Given the description of an element on the screen output the (x, y) to click on. 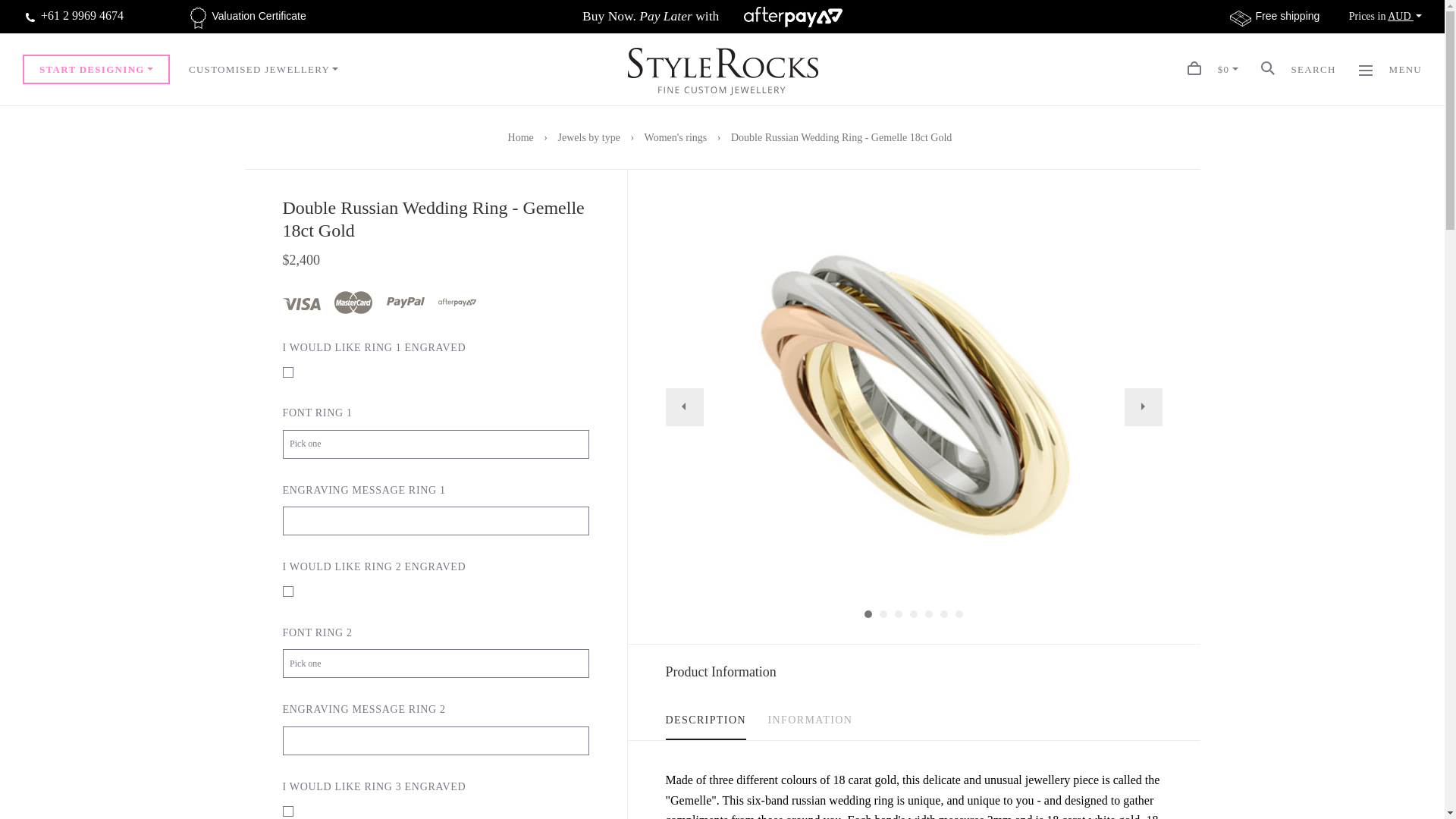
CUSTOMISED JEWELLERY (264, 69)
START DESIGNING (96, 69)
MENU (1390, 69)
SEARCH (1298, 69)
